Given the description of an element on the screen output the (x, y) to click on. 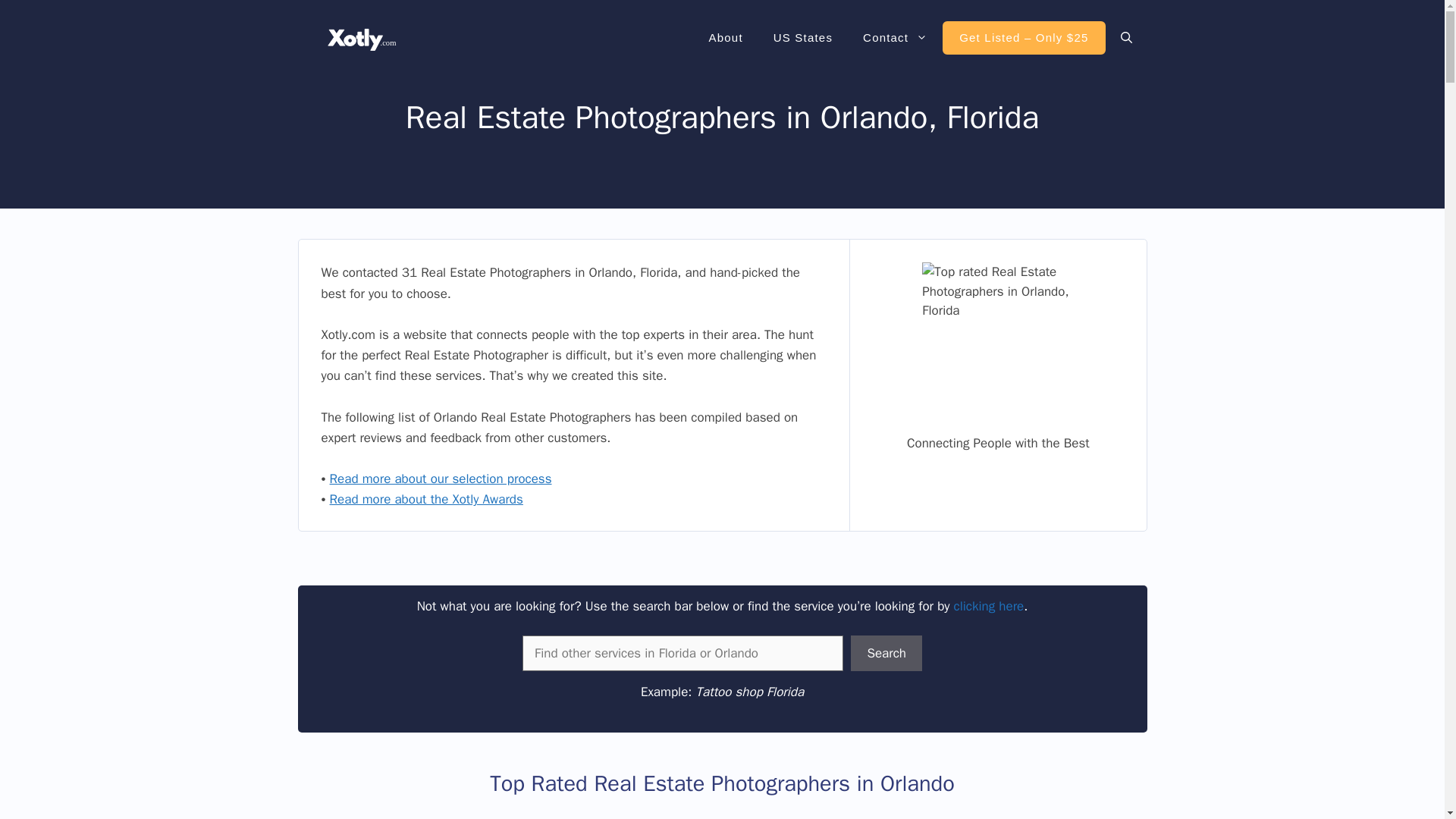
Read more about the Xotly Awards (426, 498)
Search (885, 653)
Read more about our selection process (440, 478)
US States (802, 37)
clicking here (989, 606)
About (726, 37)
Contact (894, 37)
